Given the description of an element on the screen output the (x, y) to click on. 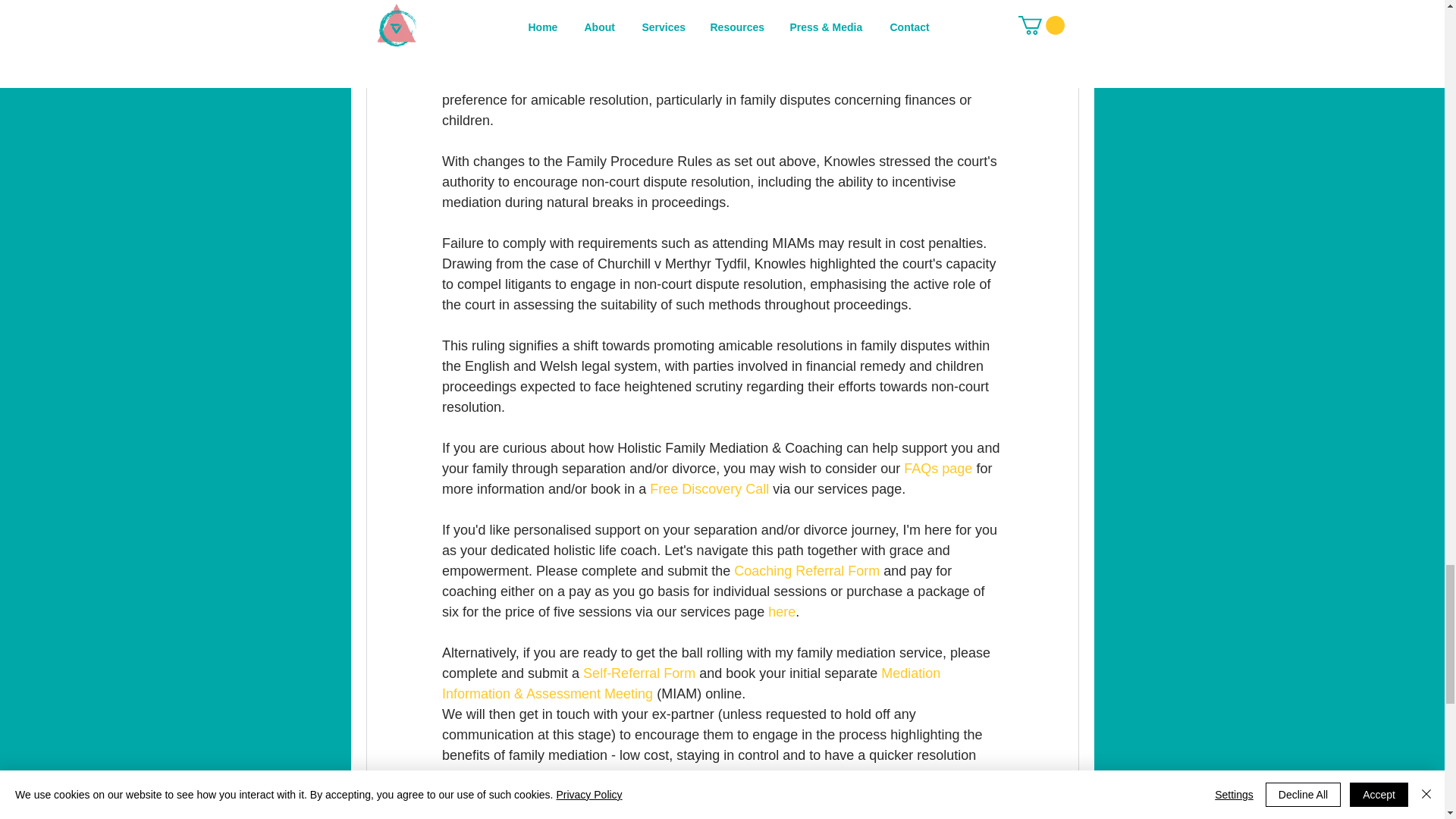
Self-Referral Form (639, 672)
Free Discovery Call (708, 488)
here (781, 611)
 FAQs page (935, 468)
Coaching Referral Form (806, 570)
